Given the description of an element on the screen output the (x, y) to click on. 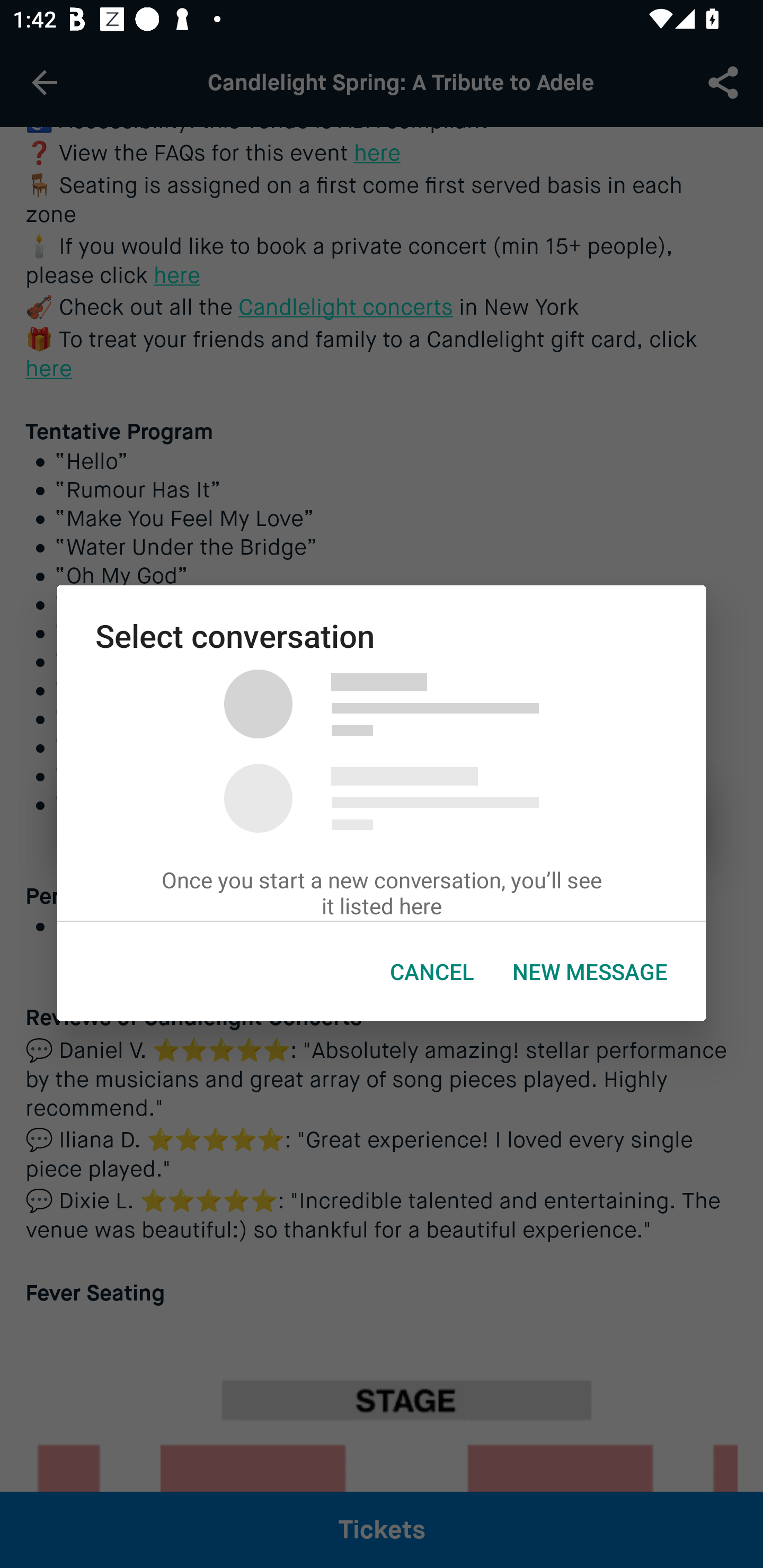
CANCEL (431, 971)
NEW MESSAGE (589, 971)
